Given the description of an element on the screen output the (x, y) to click on. 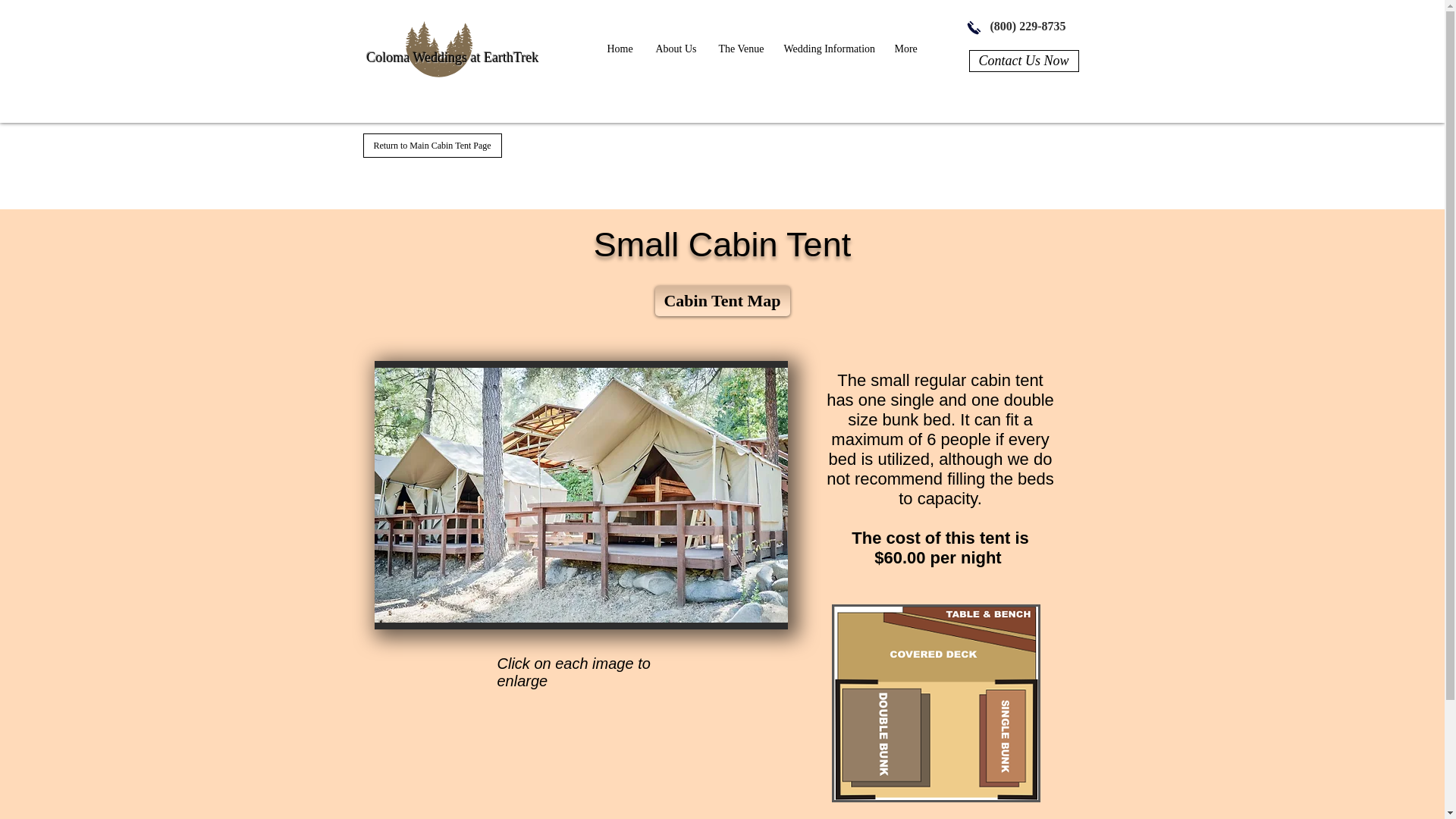
Contact Us Now (1023, 60)
About Us (676, 48)
The Venue (738, 48)
Return to Main Cabin Tent Page (431, 145)
Cabin Tent Map (722, 300)
